Given the description of an element on the screen output the (x, y) to click on. 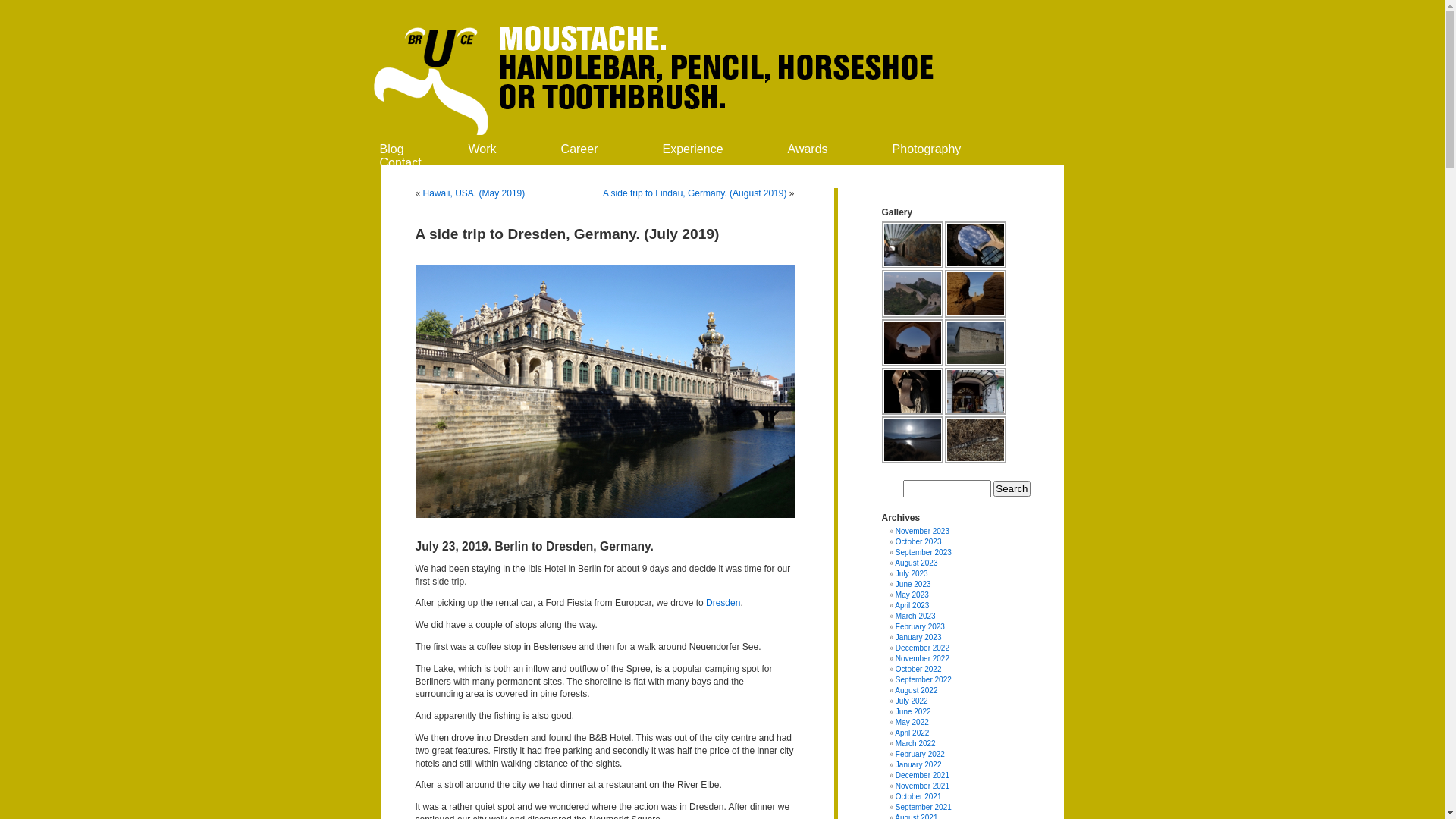
P4272817 Element type: hover (975, 439)
June 2022 Element type: text (913, 711)
June 2023 Element type: text (913, 584)
Experience Element type: text (692, 148)
August 2023 Element type: text (915, 562)
August 2022 Element type: text (915, 690)
Contact Element type: text (399, 162)
DSC03089 Element type: hover (911, 244)
Hawaii, USA. (May 2019) Element type: text (474, 193)
October 2023 Element type: text (918, 541)
A side trip to Lindau, Germany. (August 2019) Element type: text (694, 193)
May 2023 Element type: text (911, 594)
January 2023 Element type: text (918, 637)
Search Element type: text (1011, 488)
December 2021 Element type: text (922, 775)
September 2023 Element type: text (923, 552)
April 2023 Element type: text (911, 605)
Blog Element type: text (391, 148)
March 2022 Element type: text (915, 743)
DSC05069 Element type: hover (975, 390)
May 2022 Element type: text (911, 722)
December 2022 Element type: text (922, 647)
September 2022 Element type: text (923, 679)
DSC00254 Element type: hover (911, 292)
Dresden Element type: text (723, 602)
February 2022 Element type: text (919, 753)
November 2021 Element type: text (922, 785)
February 2023 Element type: text (919, 626)
April 2022 Element type: text (911, 732)
PB015913 Element type: hover (911, 390)
October 2021 Element type: text (918, 796)
Work Element type: text (482, 148)
July 2022 Element type: text (911, 700)
Photography Element type: text (926, 148)
Awards Element type: text (807, 148)
March 2023 Element type: text (915, 615)
DSC09533 Element type: hover (975, 244)
P1141102 Element type: hover (911, 439)
November 2022 Element type: text (922, 658)
January 2022 Element type: text (918, 764)
DSC00095 Element type: hover (911, 341)
DSC08101 Element type: hover (975, 292)
September 2021 Element type: text (923, 807)
Career Element type: text (579, 148)
November 2023 Element type: text (922, 531)
DSC02209 Element type: hover (975, 341)
October 2022 Element type: text (918, 669)
July 2023 Element type: text (911, 573)
